Given the description of an element on the screen output the (x, y) to click on. 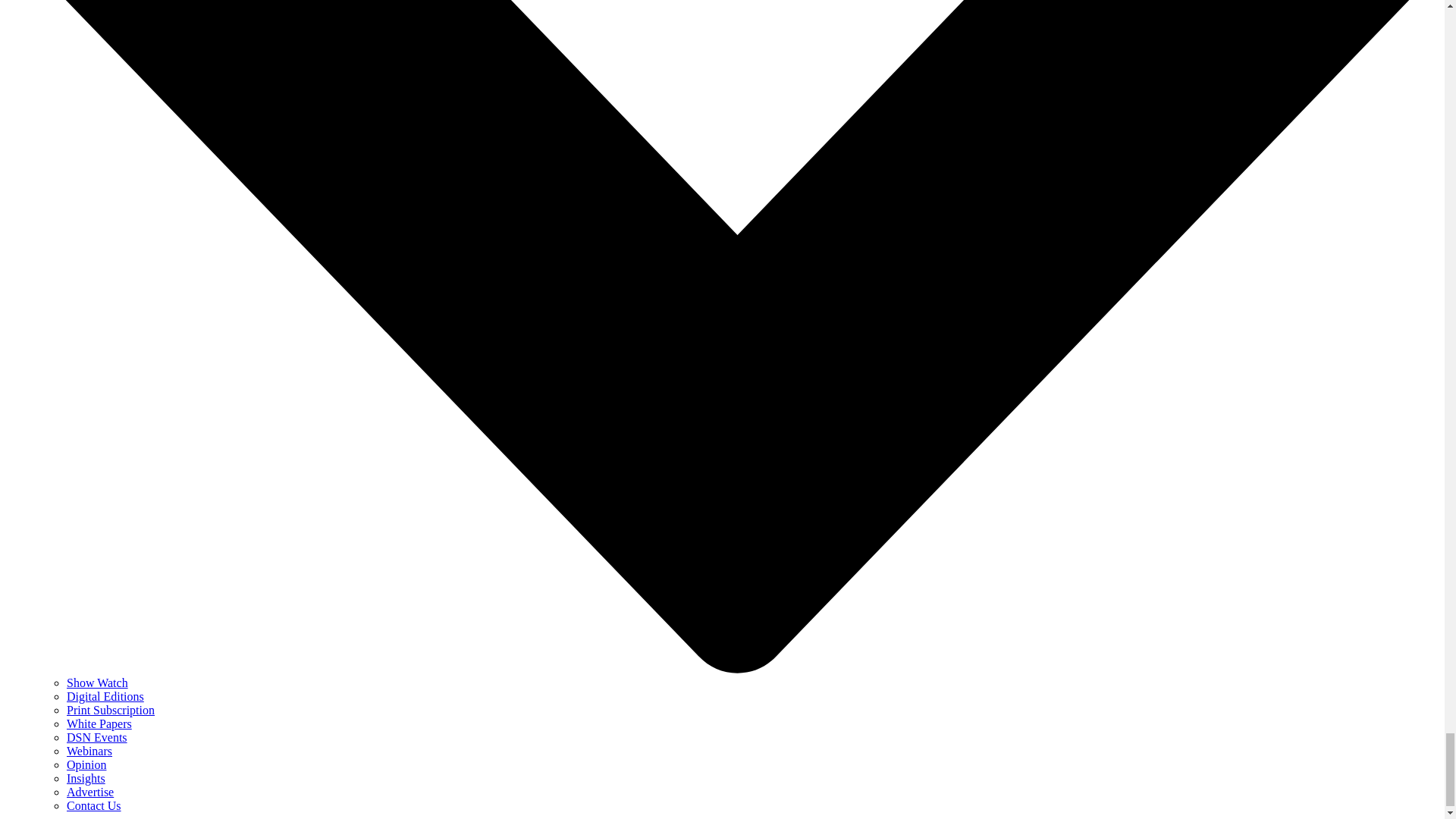
Contact Us (93, 805)
Advertise (89, 791)
Show Watch (97, 682)
DSN Events (97, 737)
Digital Editions (105, 696)
Print Subscription (110, 709)
Webinars (89, 750)
White Papers (99, 723)
Opinion (86, 764)
Insights (85, 778)
